Given the description of an element on the screen output the (x, y) to click on. 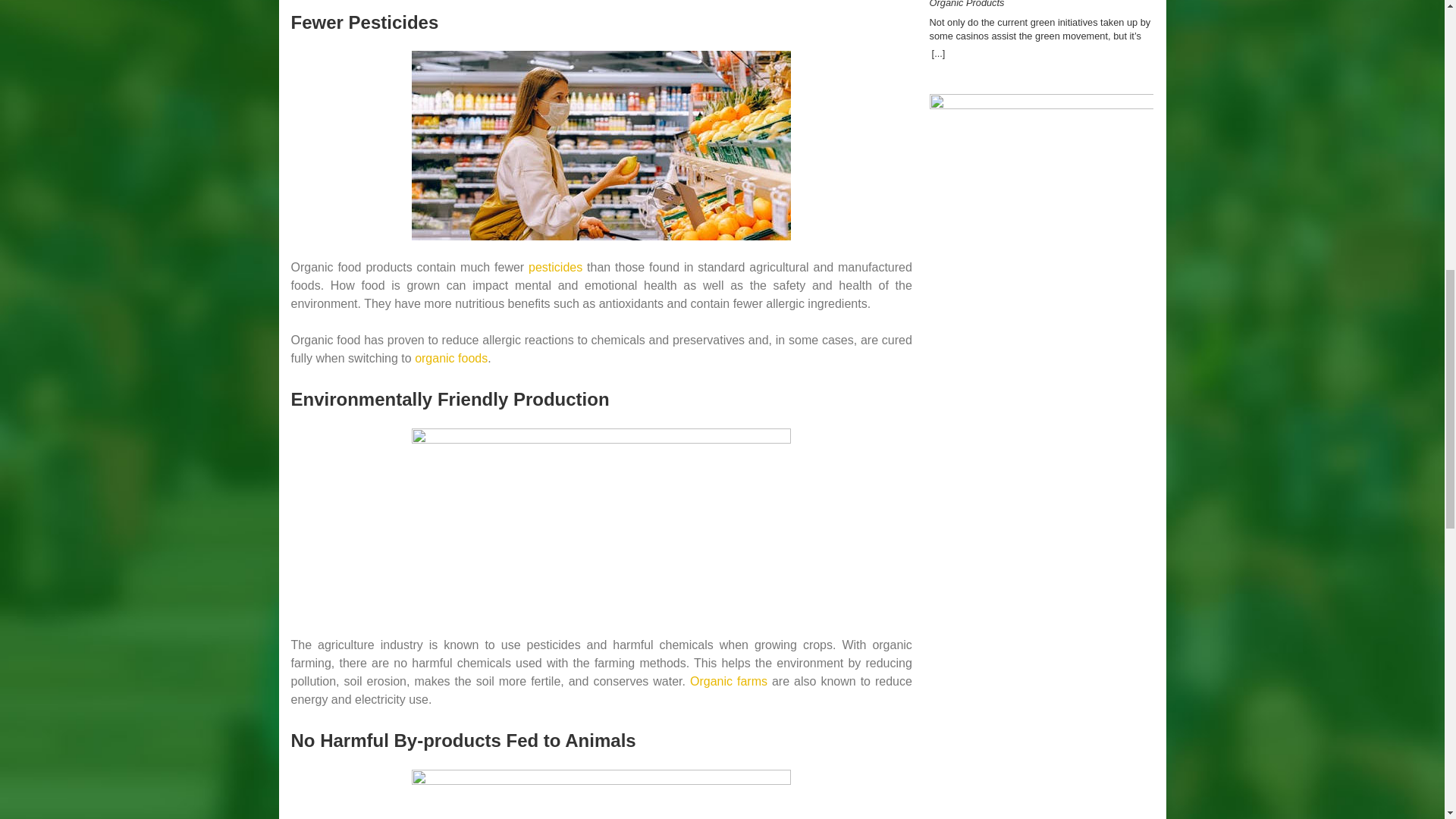
About (1042, 104)
pesticides (555, 267)
Organic farms (728, 680)
organic foods (450, 358)
